Given the description of an element on the screen output the (x, y) to click on. 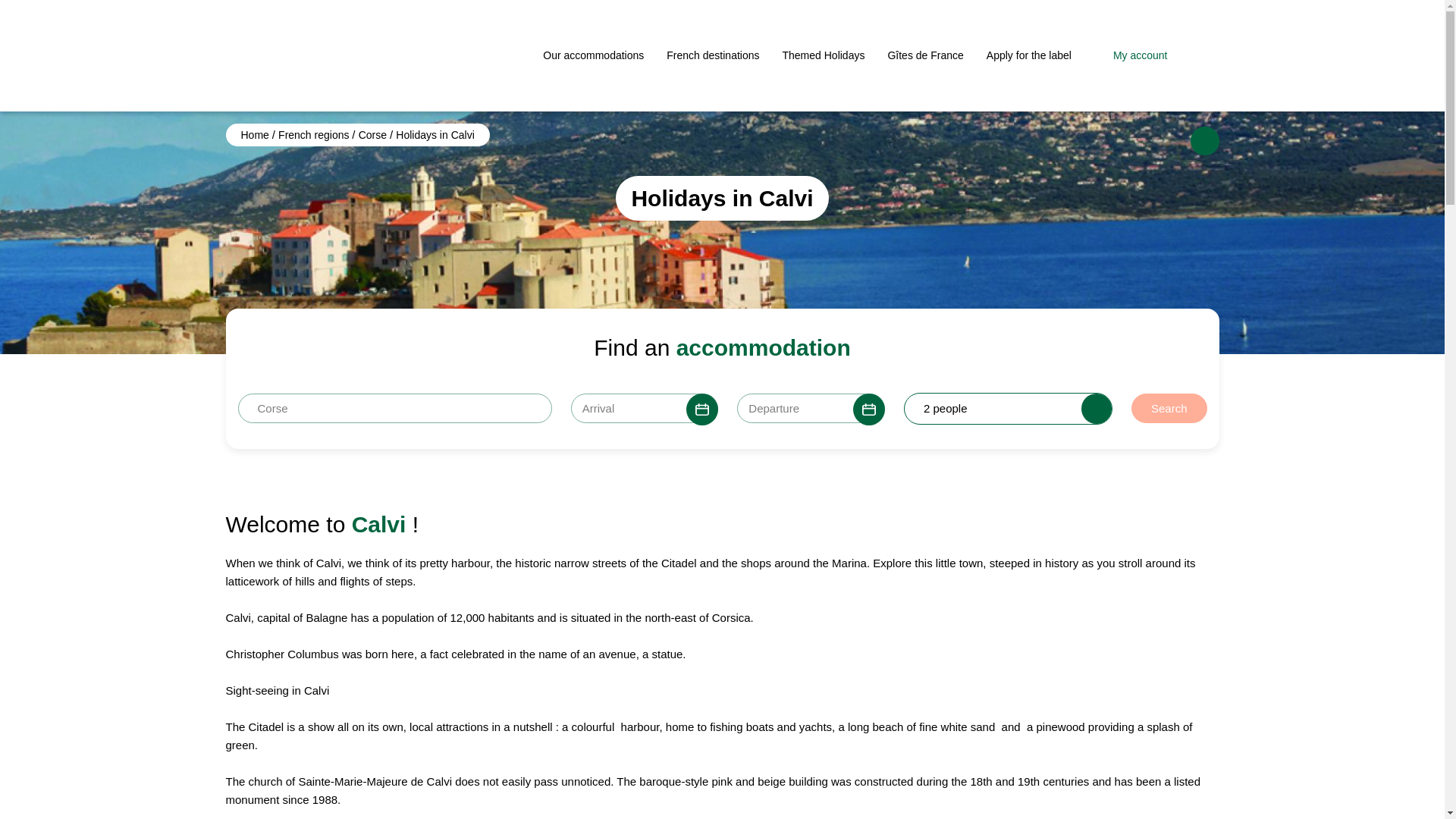
2 people (1008, 409)
Corse (394, 408)
2 people (722, 409)
Inspiration (924, 55)
My account (1130, 55)
Corse (374, 134)
Social share (1205, 140)
Apply for the label (1029, 55)
Home (256, 134)
Search (1169, 408)
Obtenir le label (1029, 55)
French regions (315, 134)
